Given the description of an element on the screen output the (x, y) to click on. 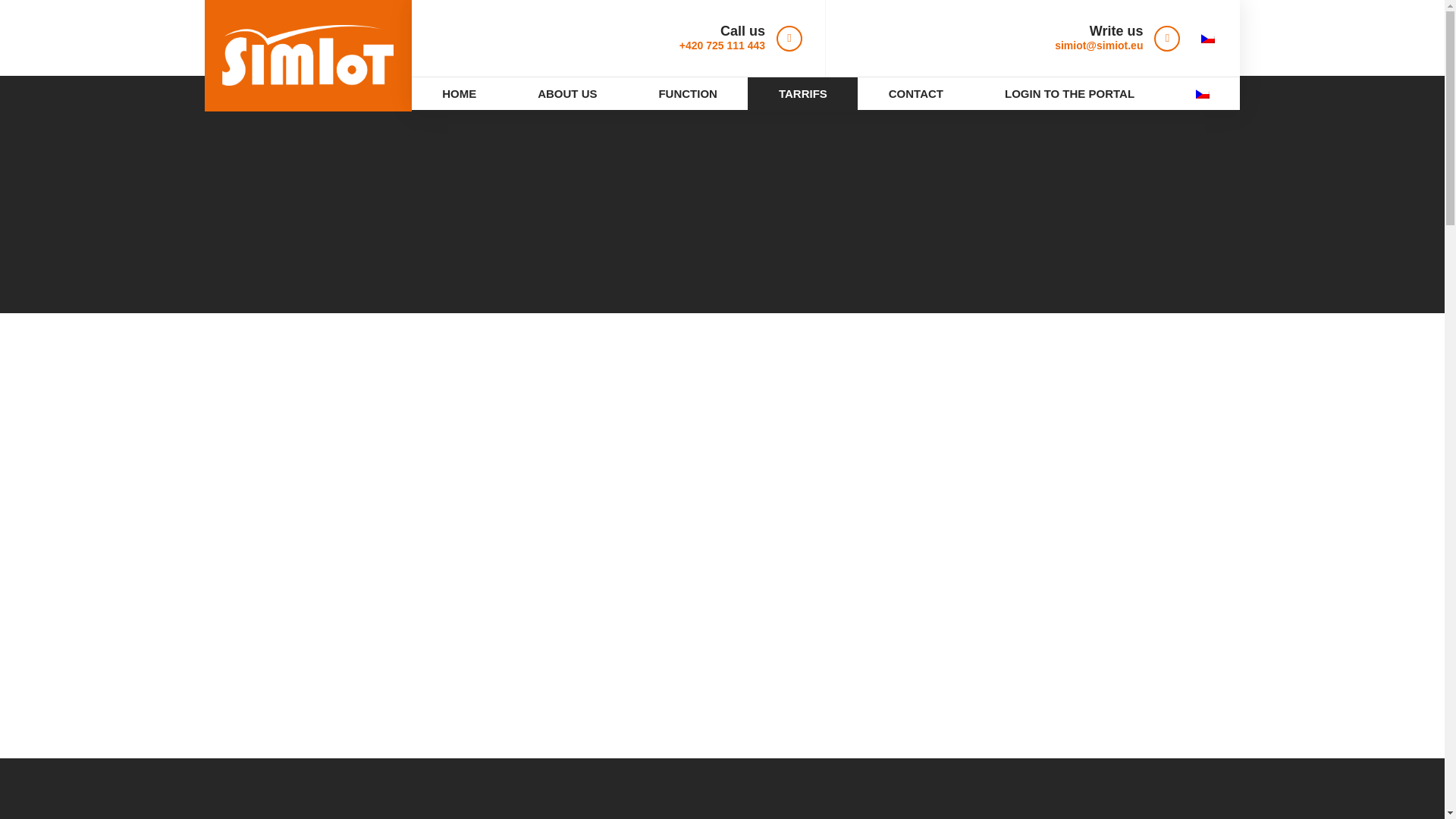
LOGIN TO THE PORTAL (1069, 92)
TARRIFS (802, 92)
FUNCTION (687, 92)
CONTACT (915, 92)
HOME (459, 92)
ABOUT US (566, 92)
